Given the description of an element on the screen output the (x, y) to click on. 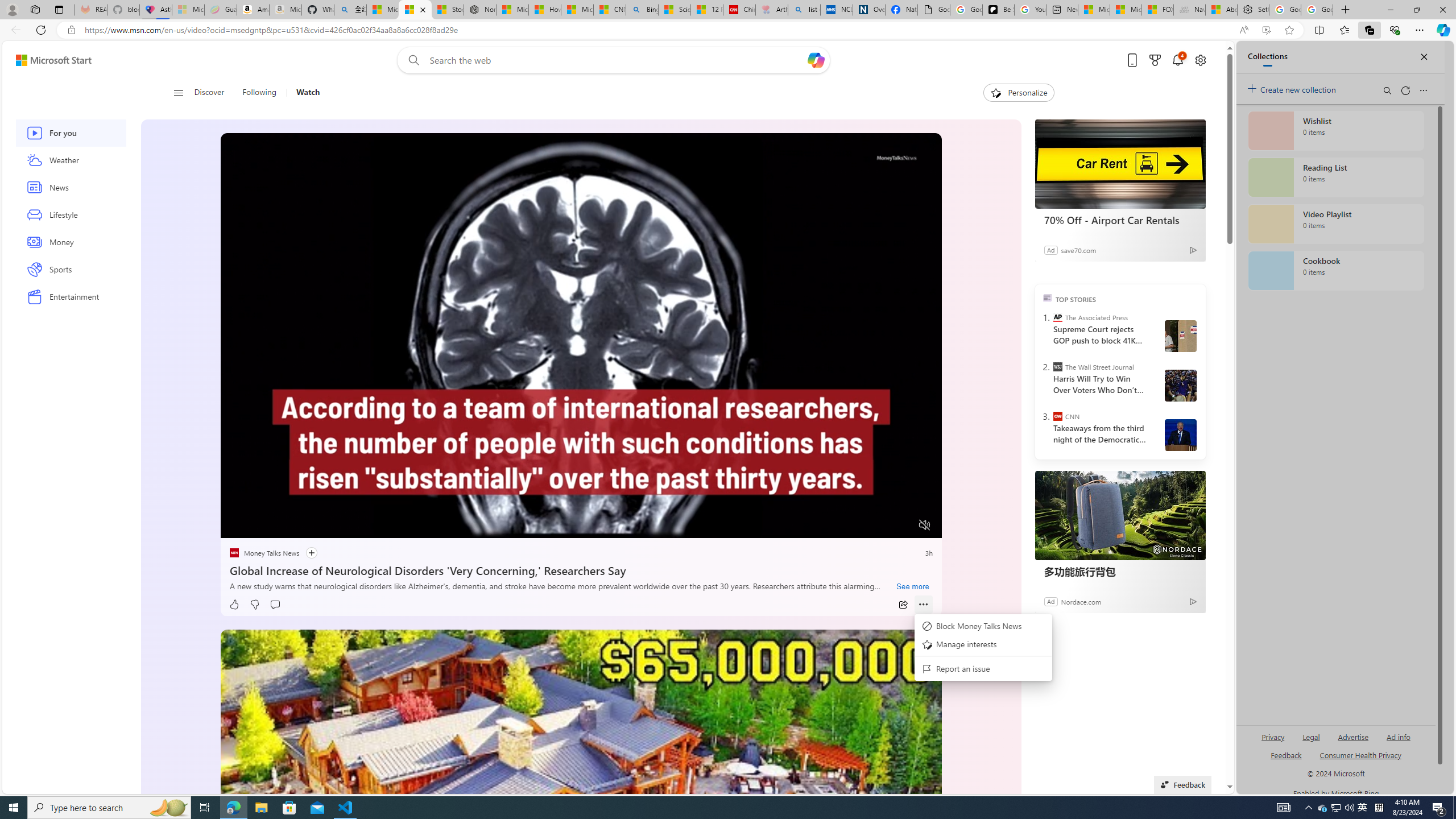
Captions (880, 525)
Seek Back (260, 525)
Seek Forward (283, 525)
70% Off - Airport Car Rentals (1119, 219)
Nordace.com (1081, 601)
